Given the description of an element on the screen output the (x, y) to click on. 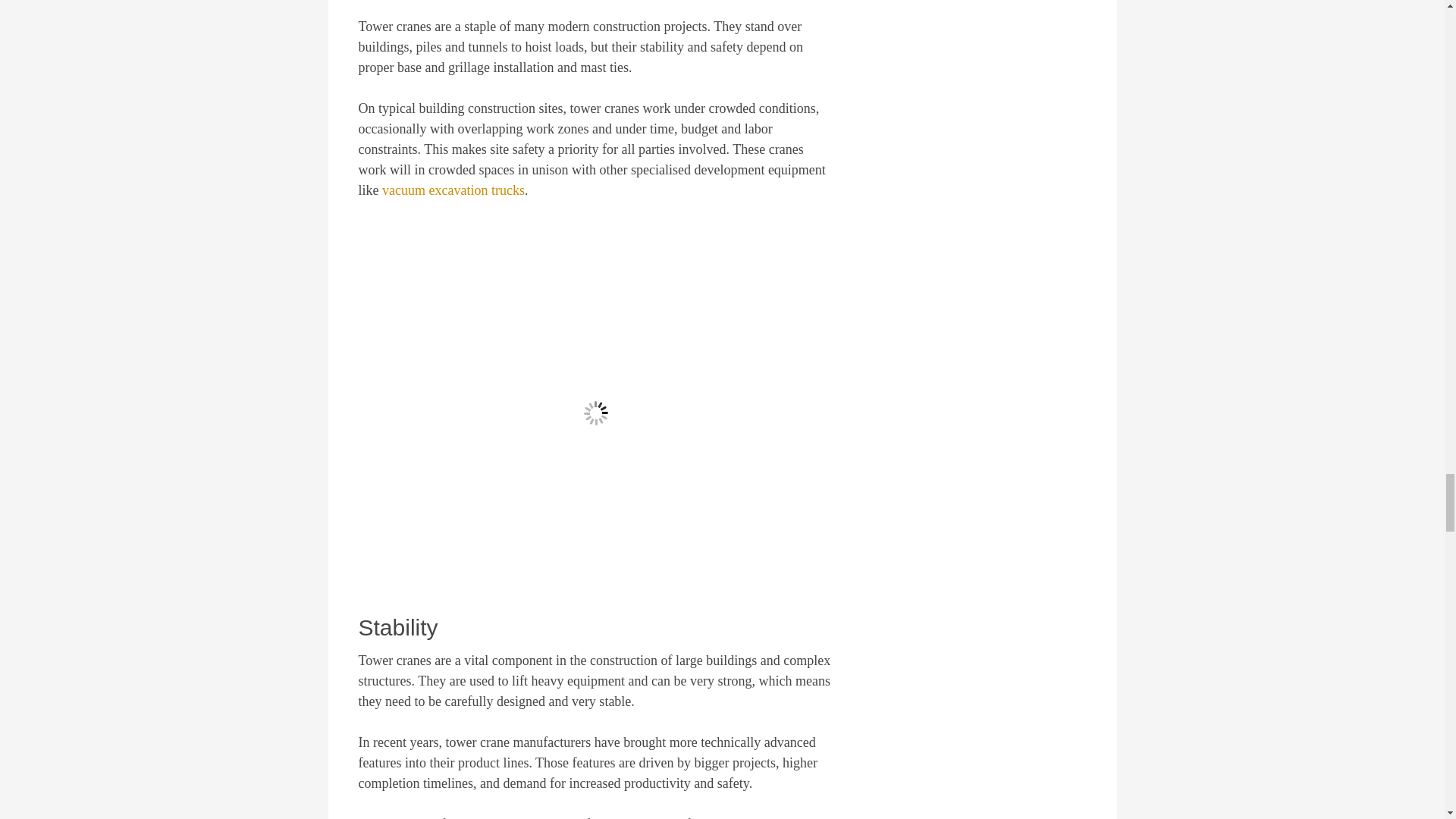
vacuum excavation trucks (452, 190)
